Given the description of an element on the screen output the (x, y) to click on. 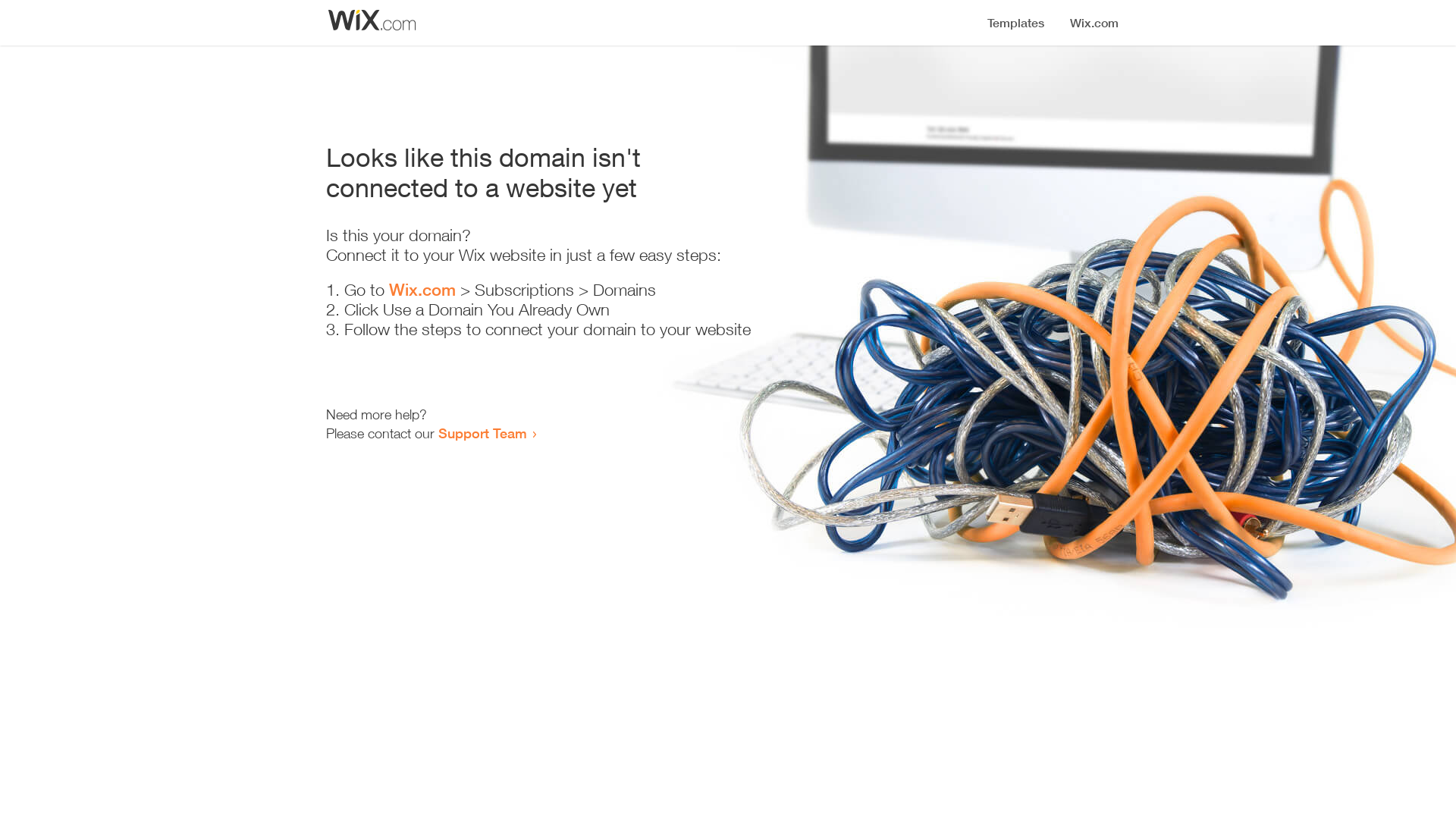
Wix.com Element type: text (422, 289)
Support Team Element type: text (482, 432)
